Given the description of an element on the screen output the (x, y) to click on. 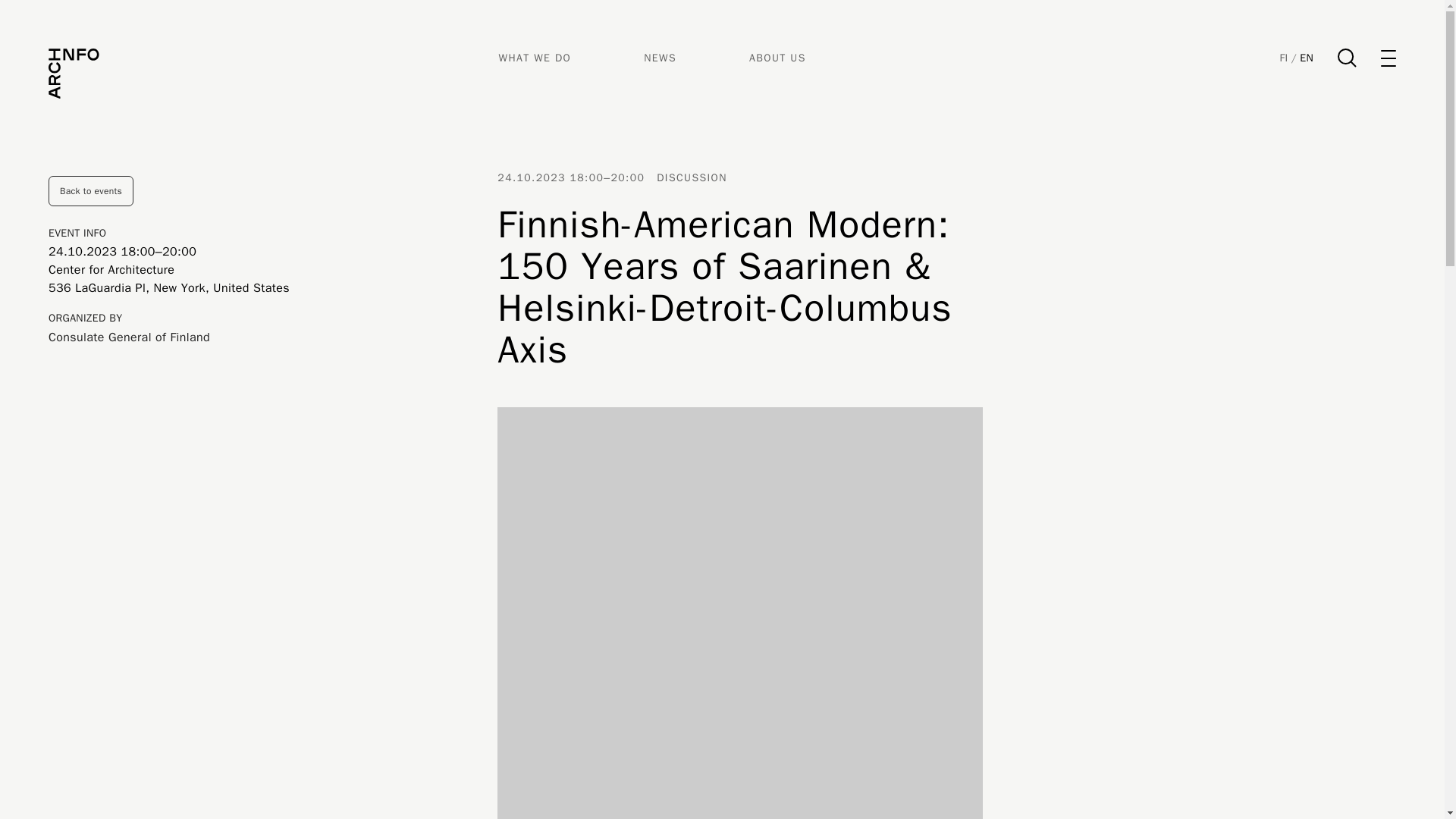
NEWS (660, 57)
Archinfo (74, 73)
ABOUT US (777, 57)
WHAT WE DO (535, 57)
